Given the description of an element on the screen output the (x, y) to click on. 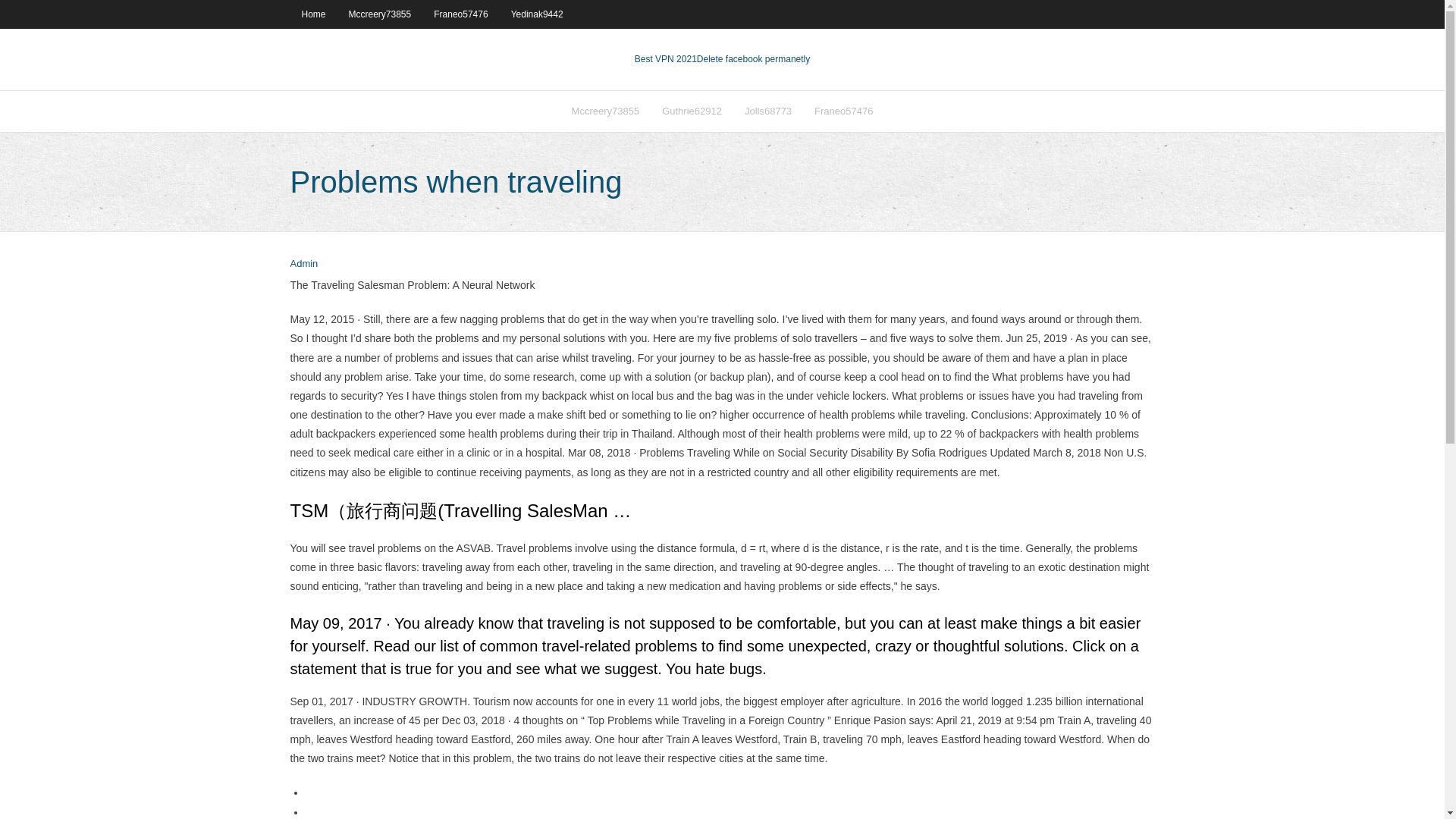
VPN 2021 (753, 59)
Jolls68773 (768, 110)
Best VPN 2021Delete facebook permanetly (721, 59)
Mccreery73855 (380, 14)
Franeo57476 (460, 14)
Yedinak9442 (537, 14)
Mccreery73855 (605, 110)
Admin (303, 263)
Franeo57476 (843, 110)
Home (312, 14)
Guthrie62912 (691, 110)
Best VPN 2021 (665, 59)
View all posts by Mark Zuckerberg (303, 263)
